Given the description of an element on the screen output the (x, y) to click on. 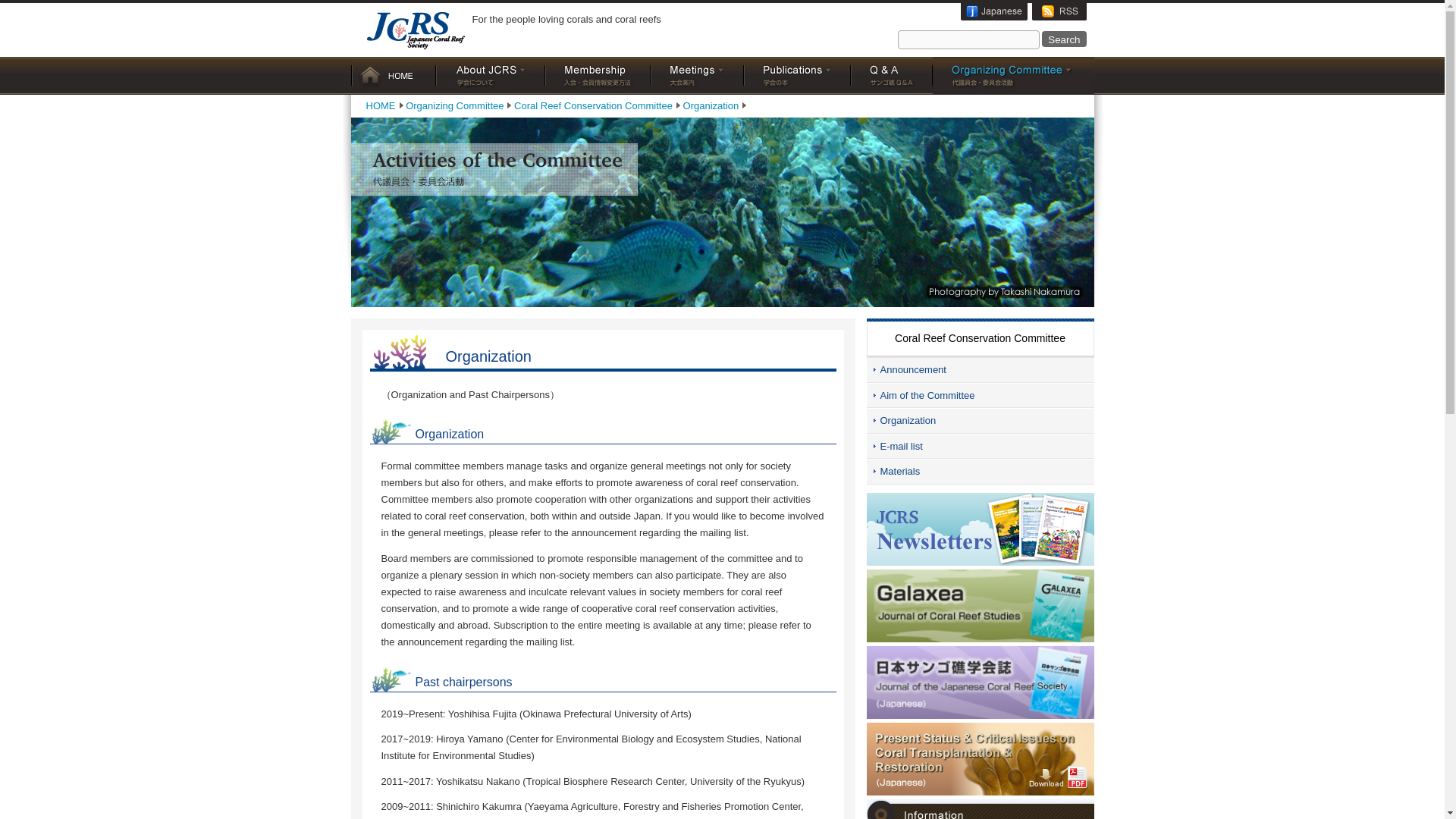
Search (1064, 38)
Meetings (697, 75)
About JCRS (489, 75)
Membership (596, 75)
About JCRS (489, 75)
Meetings (697, 75)
Membership (596, 75)
Publications (796, 75)
HOME (392, 75)
Search (1064, 38)
